Given the description of an element on the screen output the (x, y) to click on. 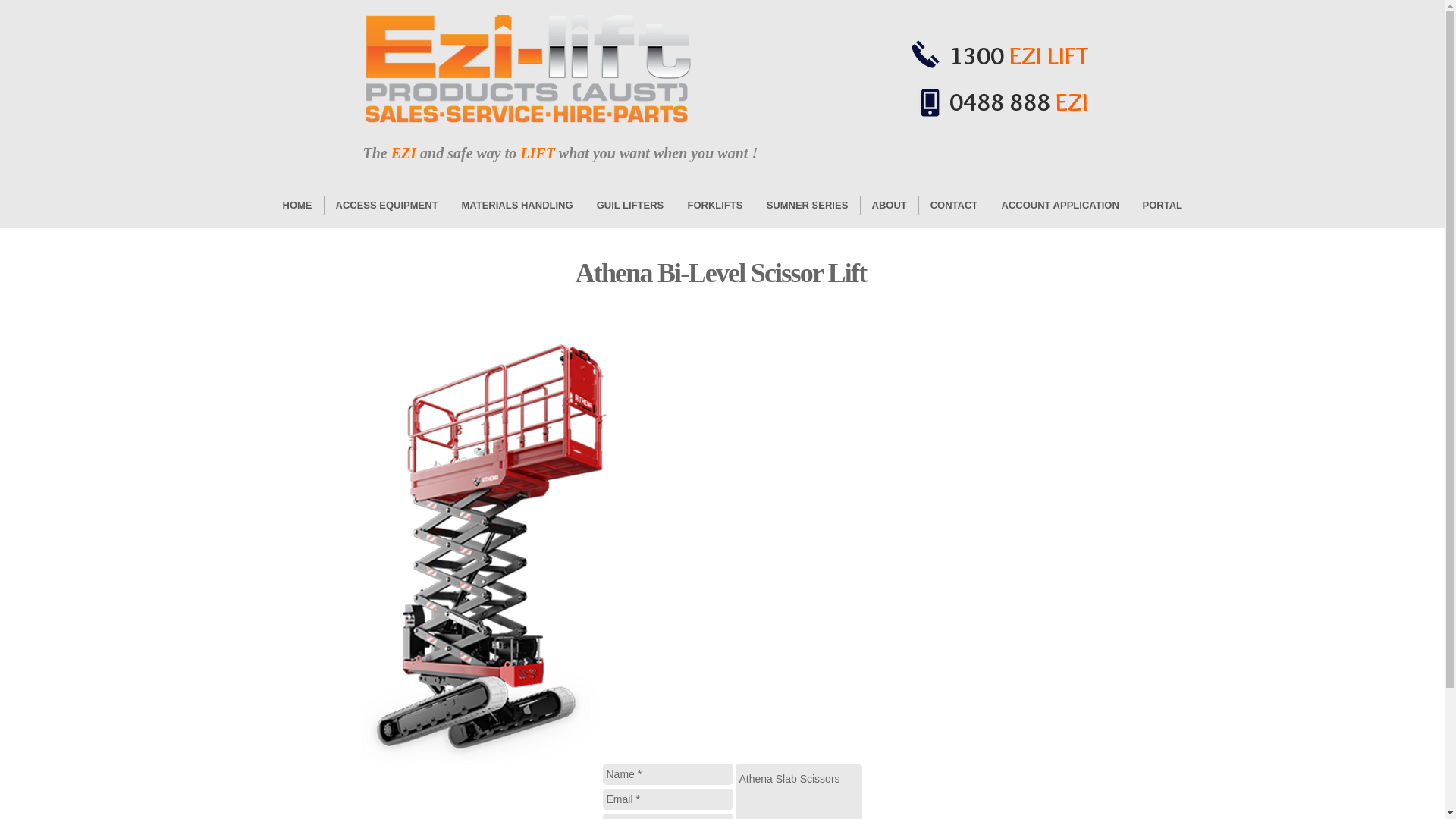
ACCOUNT APPLICATION Element type: text (1060, 205)
PORTAL Element type: text (1162, 205)
MATERIALS HANDLING Element type: text (517, 205)
FORKLIFTS Element type: text (715, 205)
HOME Element type: text (297, 205)
GUIL LIFTERS Element type: text (630, 205)
Site Search Element type: hover (1006, 152)
CONTACT Element type: text (954, 205)
SUMNER SERIES Element type: text (807, 205)
Ezi-Lift Products (Australia) Pty Ltd Element type: hover (530, 69)
ACCESS EQUIPMENT Element type: text (386, 205)
Athena Bi Level Scissor Element type: hover (490, 535)
ABOUT Element type: text (888, 205)
